Given the description of an element on the screen output the (x, y) to click on. 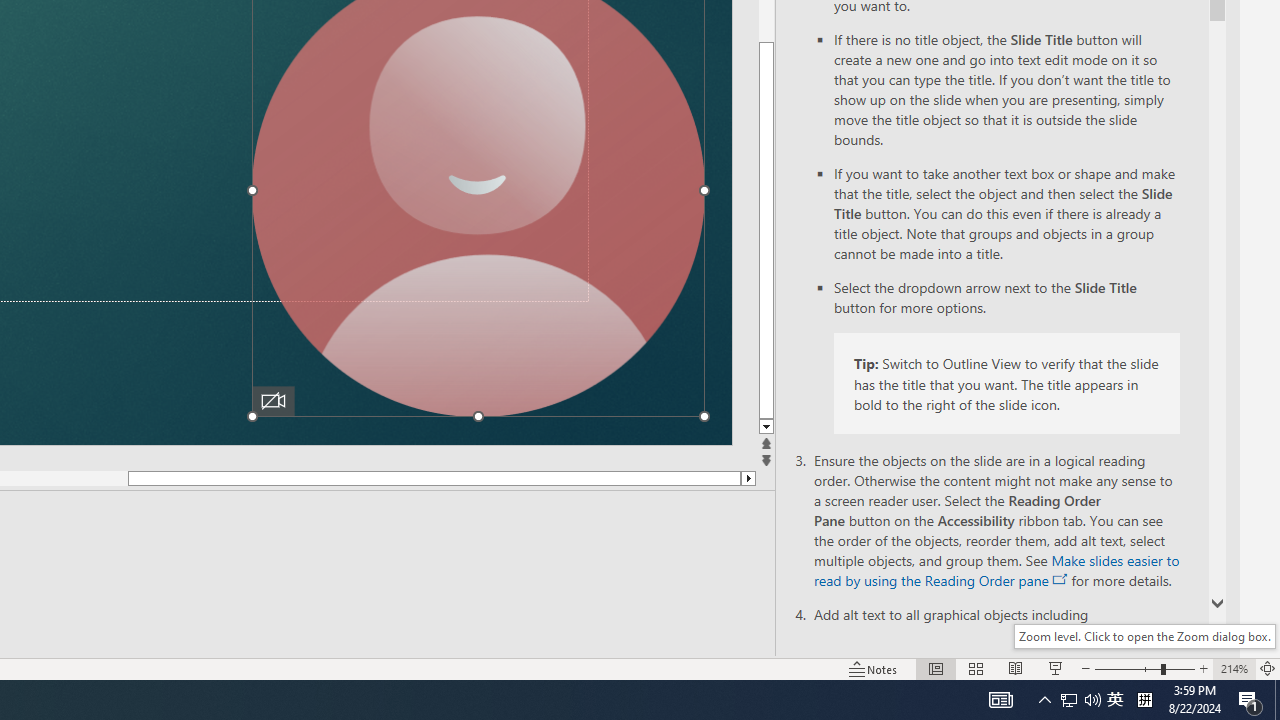
openinnewwindow (1060, 579)
